Given the description of an element on the screen output the (x, y) to click on. 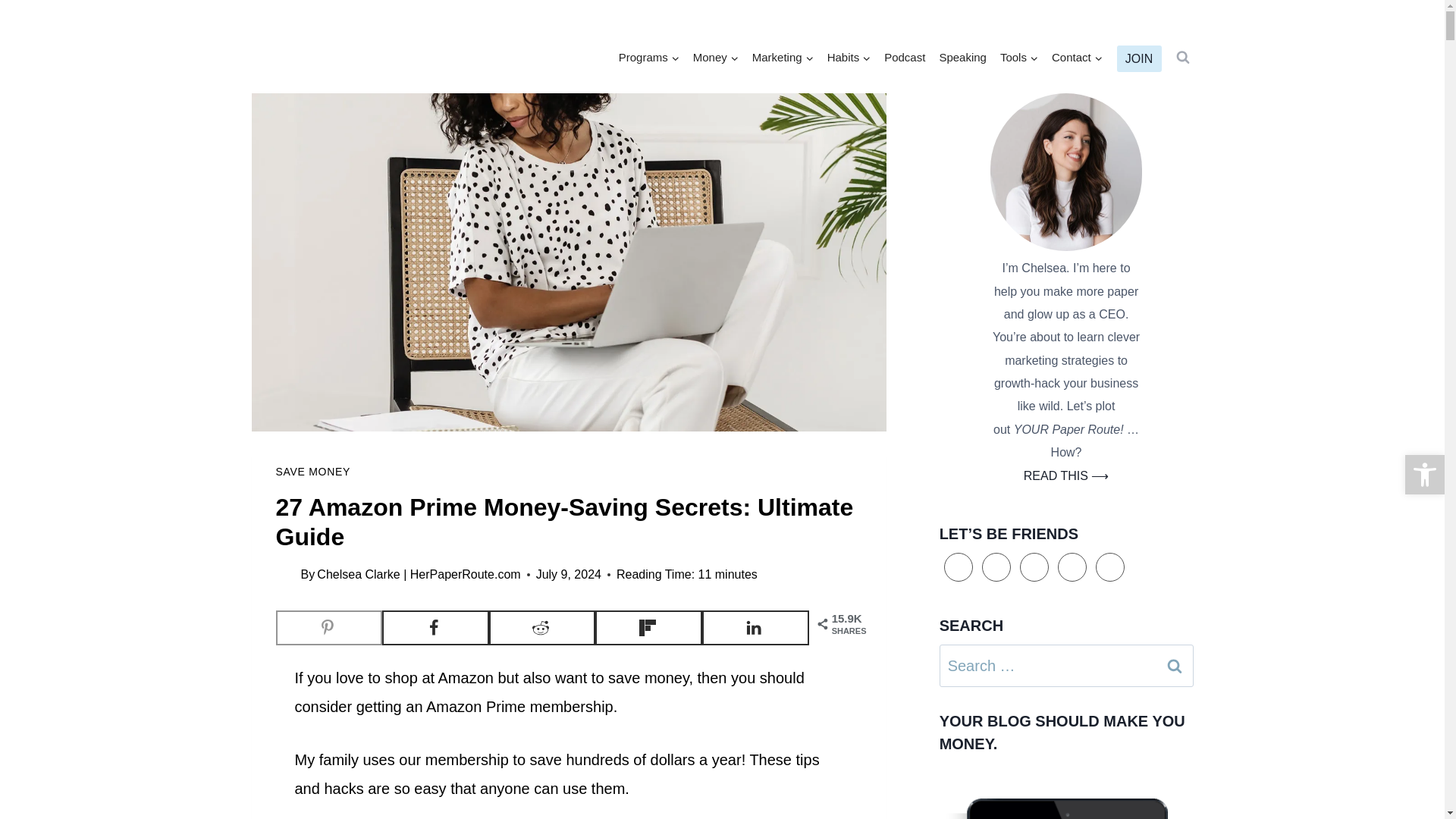
Share on Flipboard (648, 627)
Programs (648, 58)
Share on LinkedIn (755, 627)
Search (1174, 665)
Share on Facebook (435, 627)
Save to Pinterest (329, 627)
Search (1174, 665)
Share on Reddit (542, 627)
Money (715, 58)
